Given the description of an element on the screen output the (x, y) to click on. 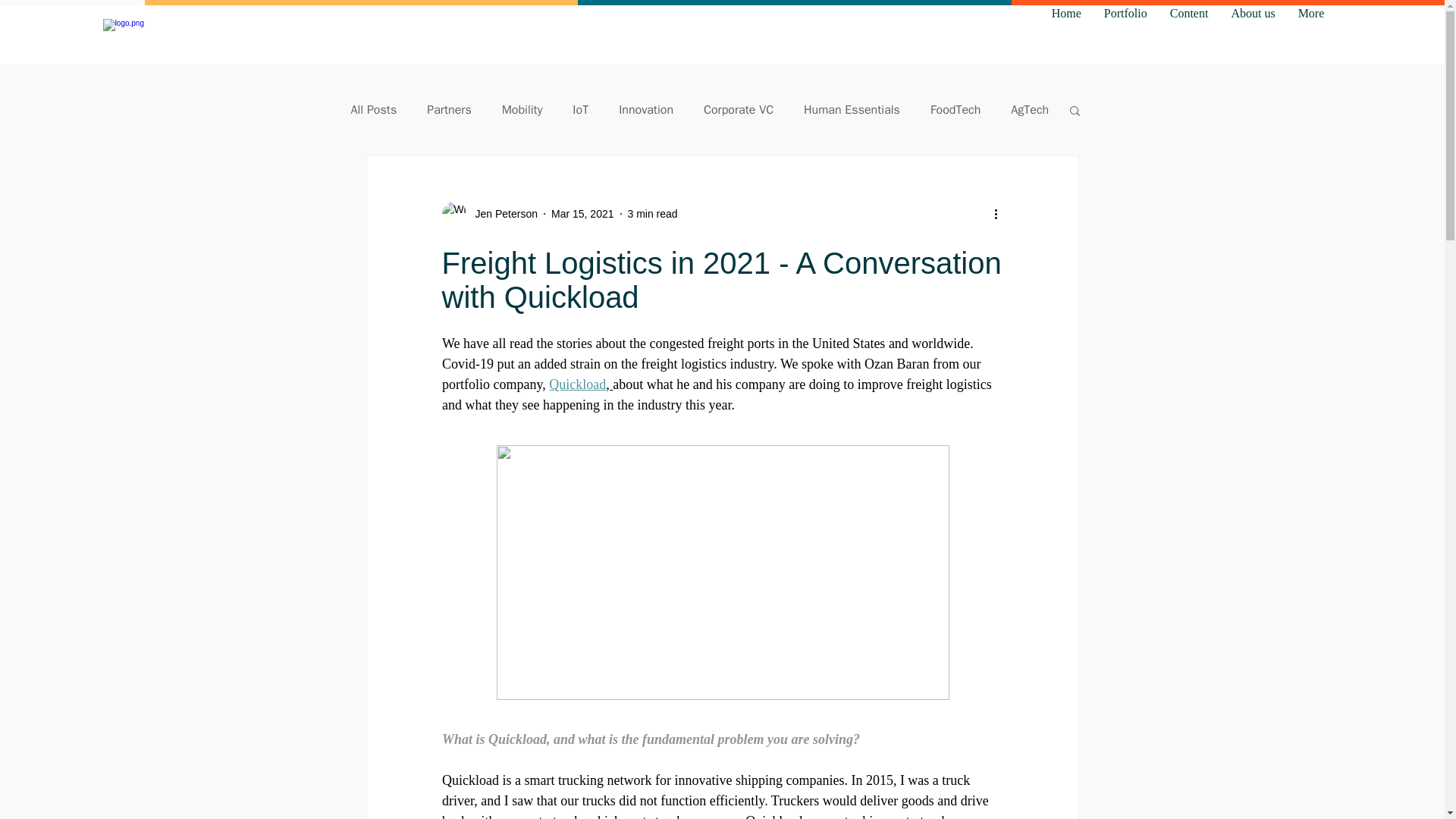
Human Essentials (851, 109)
3 min read (652, 214)
Corporate VC (738, 109)
IoT (580, 109)
Innovation (645, 109)
Portfolio (1125, 34)
Mobility (522, 109)
Quickload (576, 384)
Jen Peterson (489, 213)
AgTech (1029, 109)
Jen Peterson (501, 213)
Home (1067, 34)
FoodTech (954, 109)
All Posts (373, 109)
Mar 15, 2021 (582, 214)
